Given the description of an element on the screen output the (x, y) to click on. 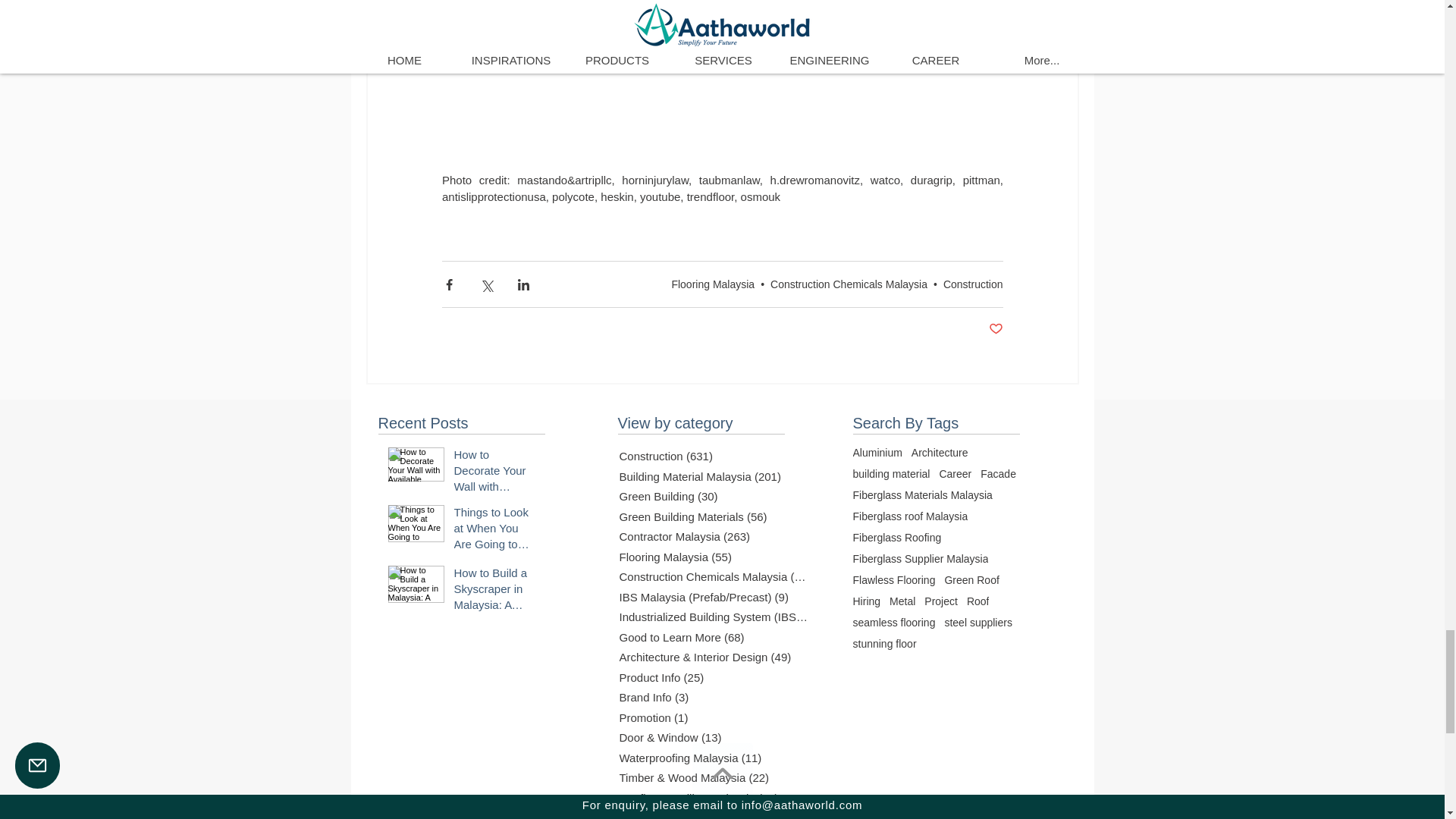
Construction (973, 284)
Post not marked as liked (995, 329)
Construction Chemicals Malaysia (848, 284)
Flooring Malaysia (712, 284)
How to Build a Skyscraper in Malaysia: A Comprehensive Guide (493, 592)
